Given the description of an element on the screen output the (x, y) to click on. 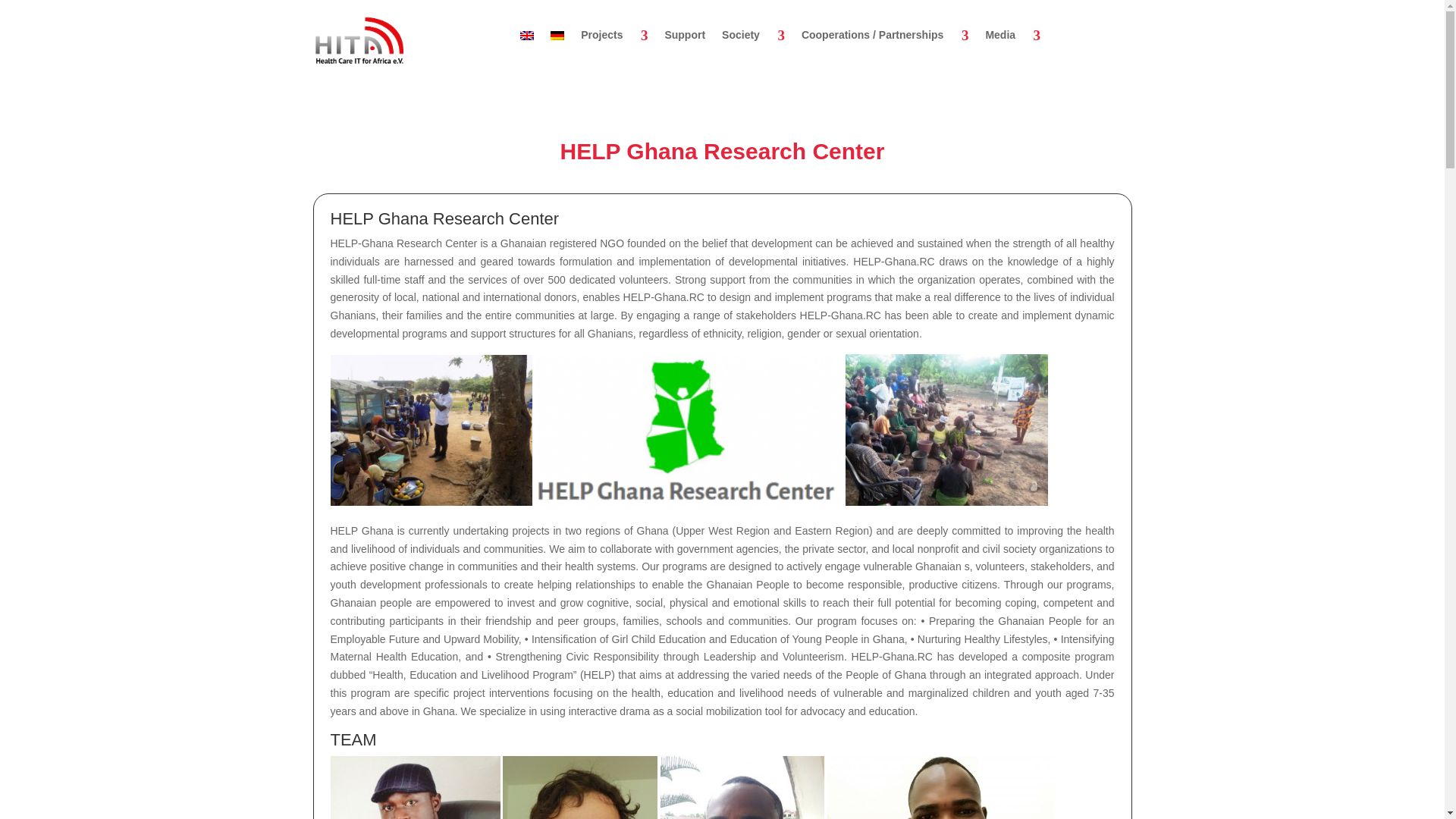
Projects (613, 35)
